Given the description of an element on the screen output the (x, y) to click on. 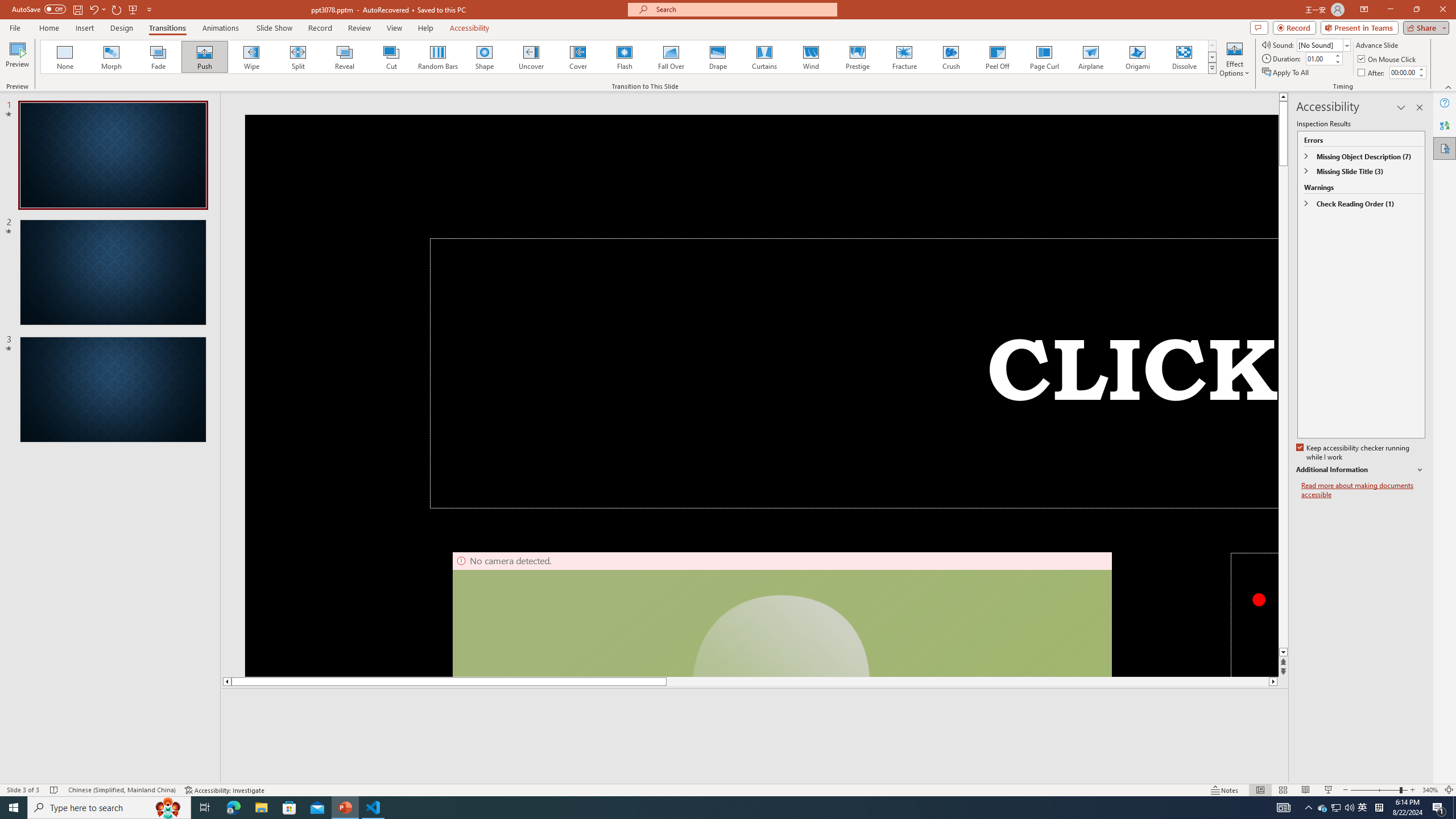
Drape (717, 56)
Uncover (531, 56)
